Given the description of an element on the screen output the (x, y) to click on. 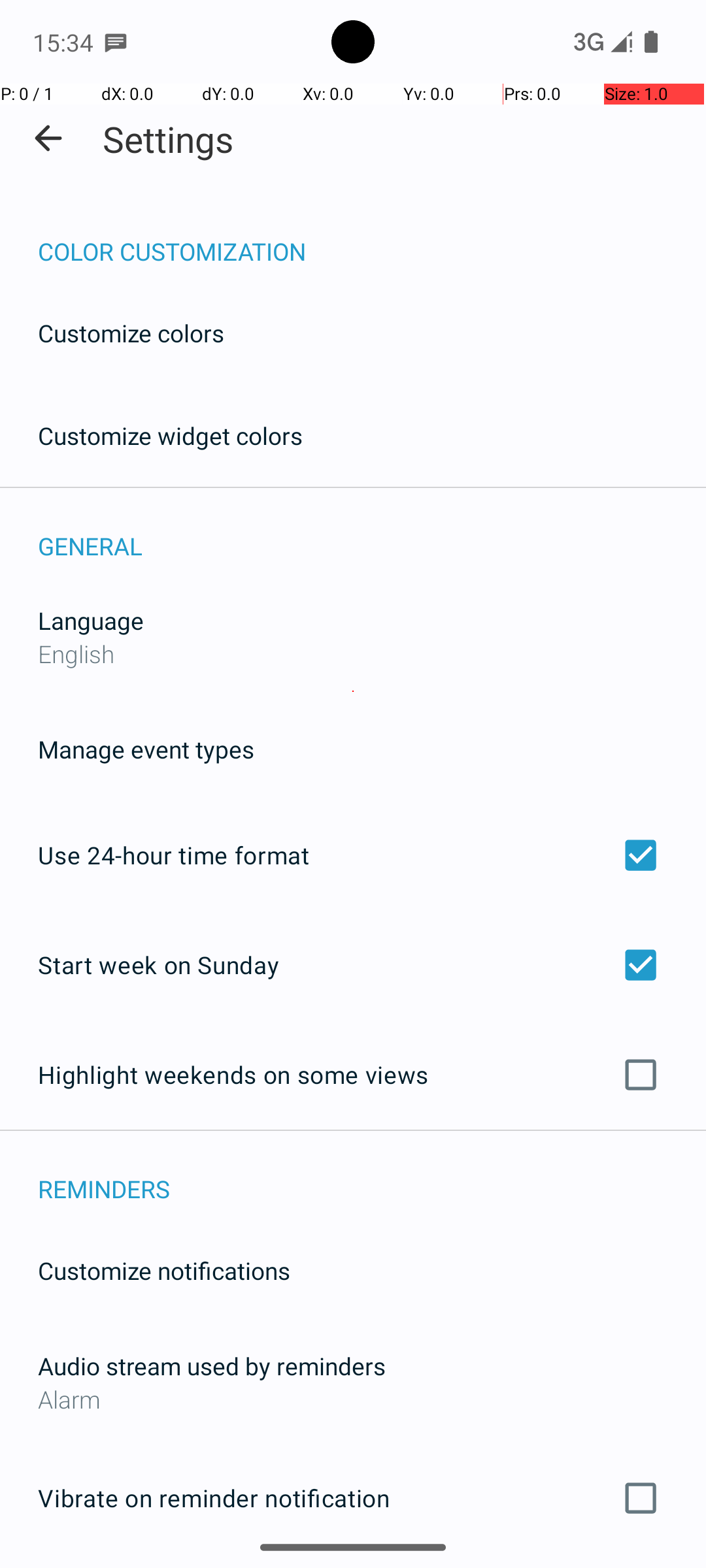
REMINDERS Element type: android.widget.TextView (371, 1174)
Customize widget colors Element type: android.widget.TextView (170, 435)
Start week on Sunday Element type: android.widget.CheckBox (352, 964)
Highlight weekends on some views Element type: android.widget.CheckBox (352, 1074)
Customize notifications Element type: android.widget.TextView (163, 1270)
Audio stream used by reminders Element type: android.widget.TextView (211, 1365)
Vibrate on reminder notification Element type: android.widget.CheckBox (352, 1497)
